Given the description of an element on the screen output the (x, y) to click on. 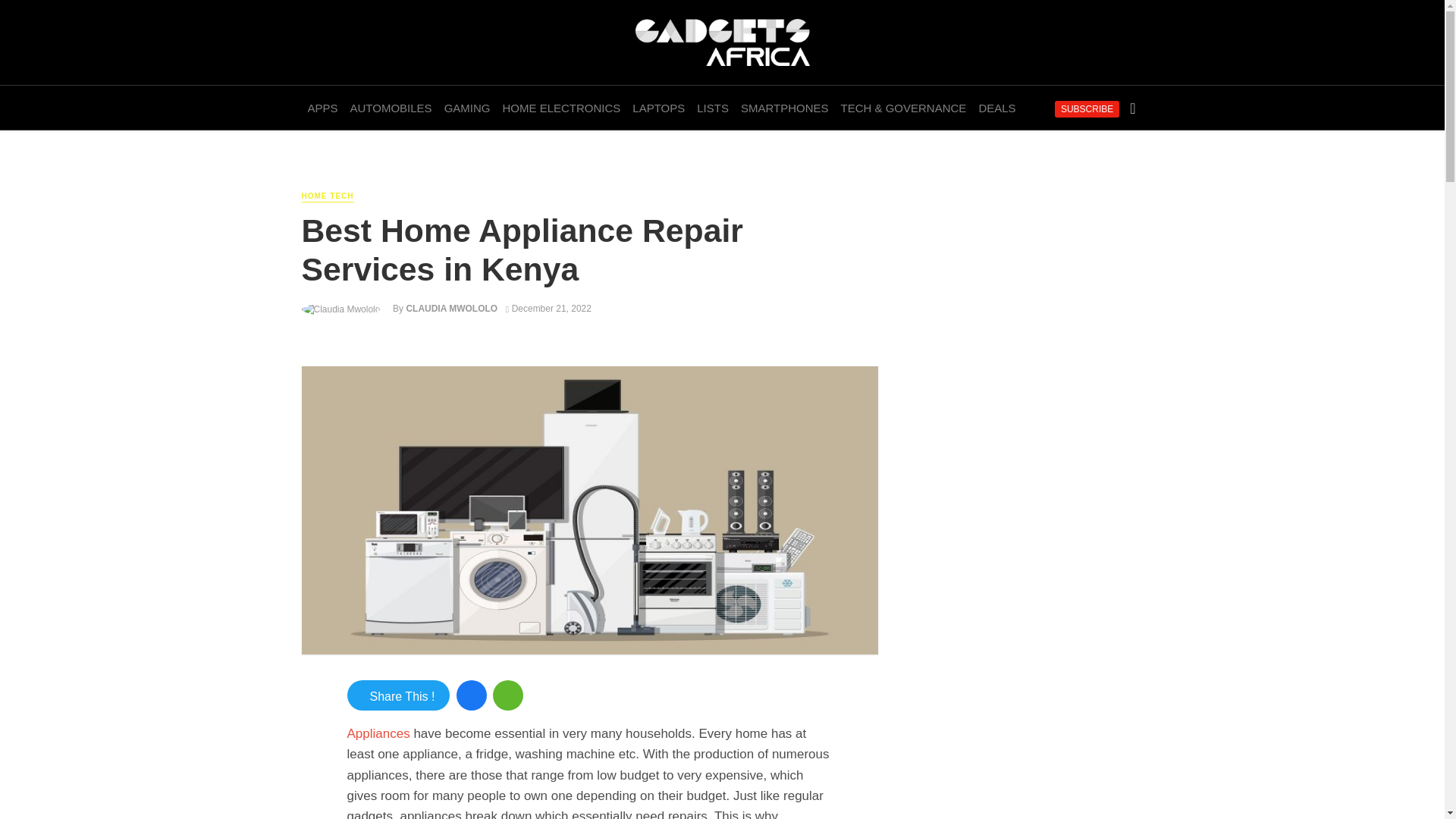
SUBSCRIBE (1086, 108)
AUTOMOBILES (390, 108)
LISTS (712, 108)
SMARTPHONES (784, 108)
CLAUDIA MWOLOLO (451, 308)
Share this on Facebook (471, 695)
Tweet this ! (398, 695)
Share This ! (398, 695)
Posts by Claudia Mwololo (451, 308)
HOME ELECTRONICS (561, 108)
